Given the description of an element on the screen output the (x, y) to click on. 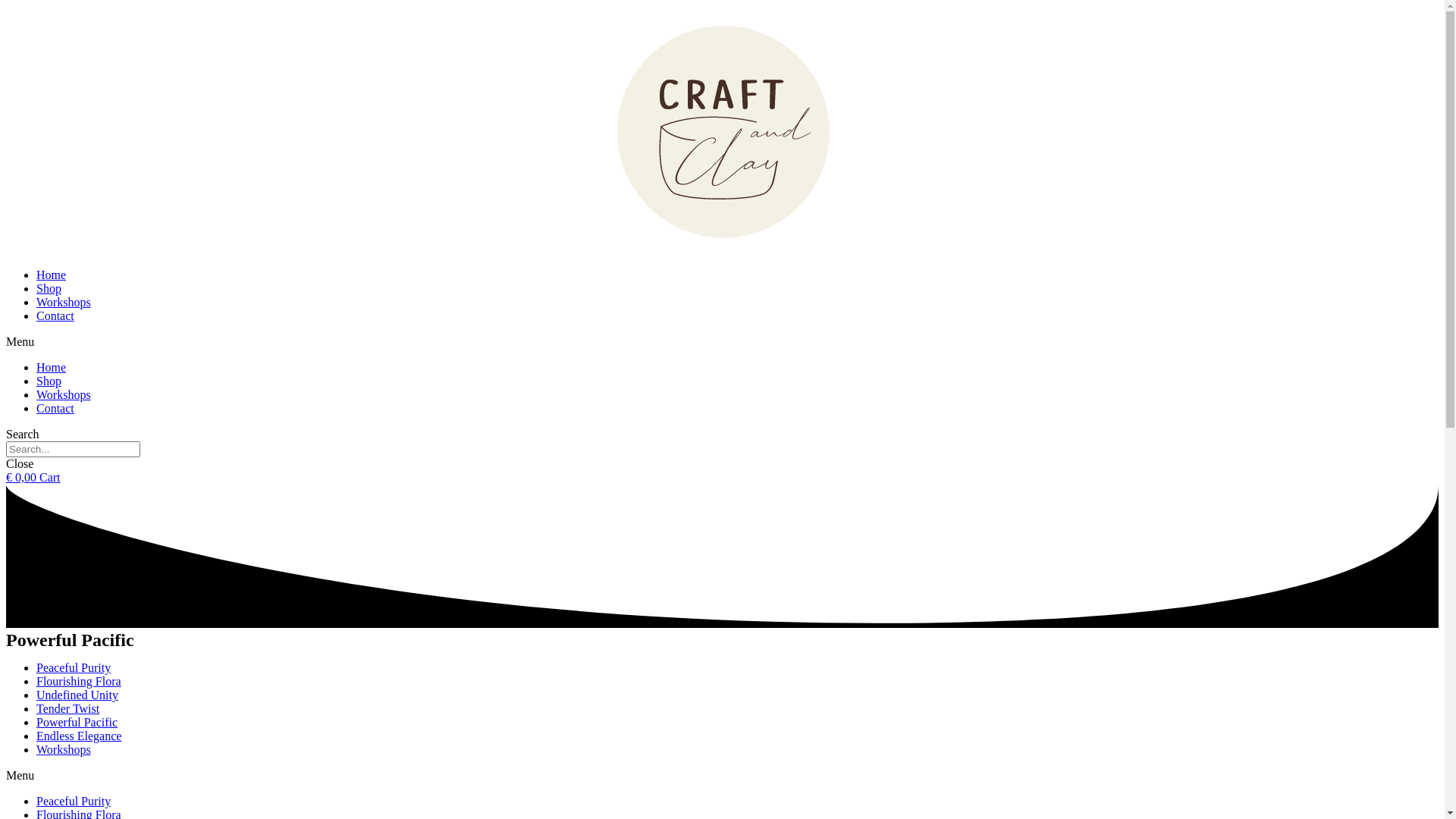
Shop Element type: text (48, 288)
Endless Elegance Element type: text (78, 735)
Workshops Element type: text (63, 394)
Undefined Unity Element type: text (77, 694)
Shop Element type: text (48, 380)
Home Element type: text (50, 366)
Workshops Element type: text (63, 749)
Workshops Element type: text (63, 301)
Powerful Pacific Element type: text (76, 721)
Search Element type: hover (73, 449)
Peaceful Purity Element type: text (73, 667)
Tender Twist Element type: text (67, 708)
Home Element type: text (50, 274)
Contact Element type: text (55, 407)
Flourishing Flora Element type: text (78, 680)
Contact Element type: text (55, 315)
Peaceful Purity Element type: text (73, 800)
